Given the description of an element on the screen output the (x, y) to click on. 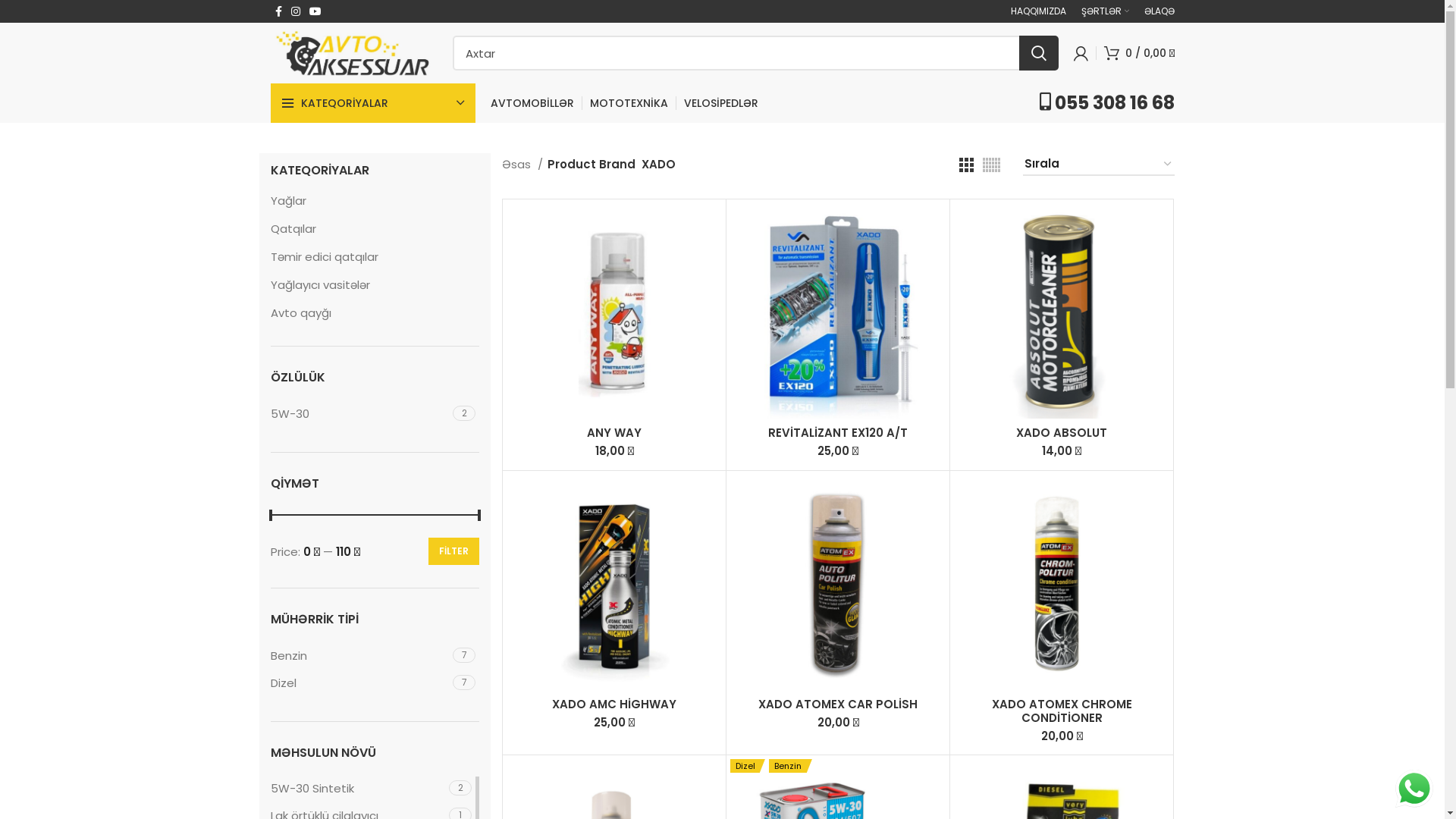
Axtar Element type: hover (754, 52)
My account Element type: hover (1080, 52)
XADO ATOMEX CHROME CONDITIONER Element type: text (1061, 710)
XADO ATOMEX CAR POLISH Element type: text (837, 704)
XADO ABSOLUT Element type: text (1061, 432)
Daxil ol Element type: text (962, 294)
5W-30 Sintetik Element type: text (357, 788)
XADO AMC HIGHWAY Element type: text (614, 704)
Dizel Element type: text (358, 682)
FILTER Element type: text (453, 550)
5W-30 Element type: text (358, 413)
ANY WAY Element type: text (613, 432)
SEARCH Element type: text (1038, 52)
REVITALIZANT EX120 A/T Element type: text (837, 432)
MOTOTEXNIKA Element type: text (628, 102)
Benzin Element type: text (358, 655)
